Given the description of an element on the screen output the (x, y) to click on. 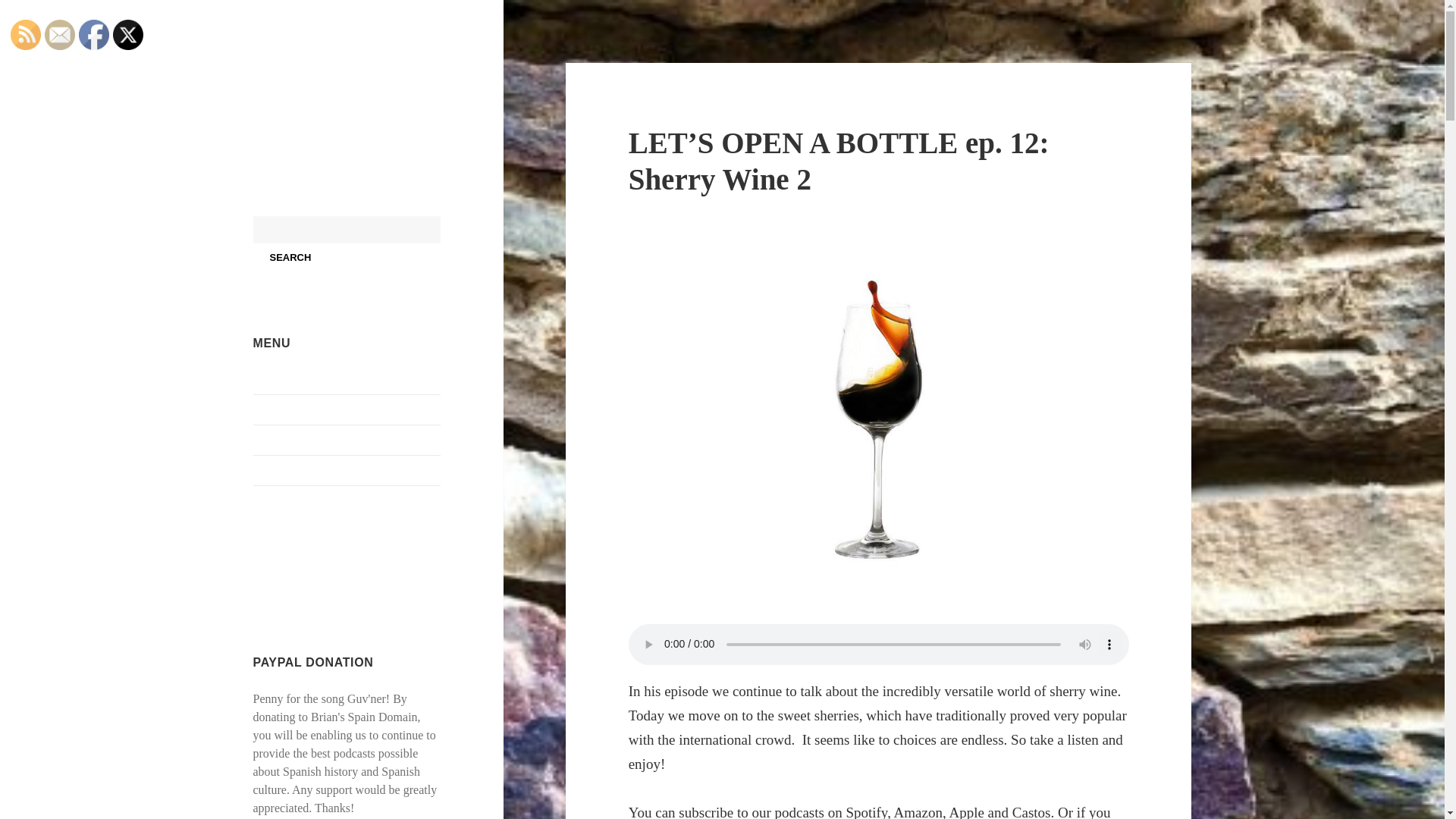
Facebook (93, 34)
Patreon Membership (304, 500)
Search (291, 257)
RSS (25, 34)
Follow by Email (60, 34)
Become a Patron! (296, 581)
Brian's Spain Domain (317, 86)
Other Spain Domain Products (325, 440)
About Brian (283, 379)
Twitter (127, 34)
